Given the description of an element on the screen output the (x, y) to click on. 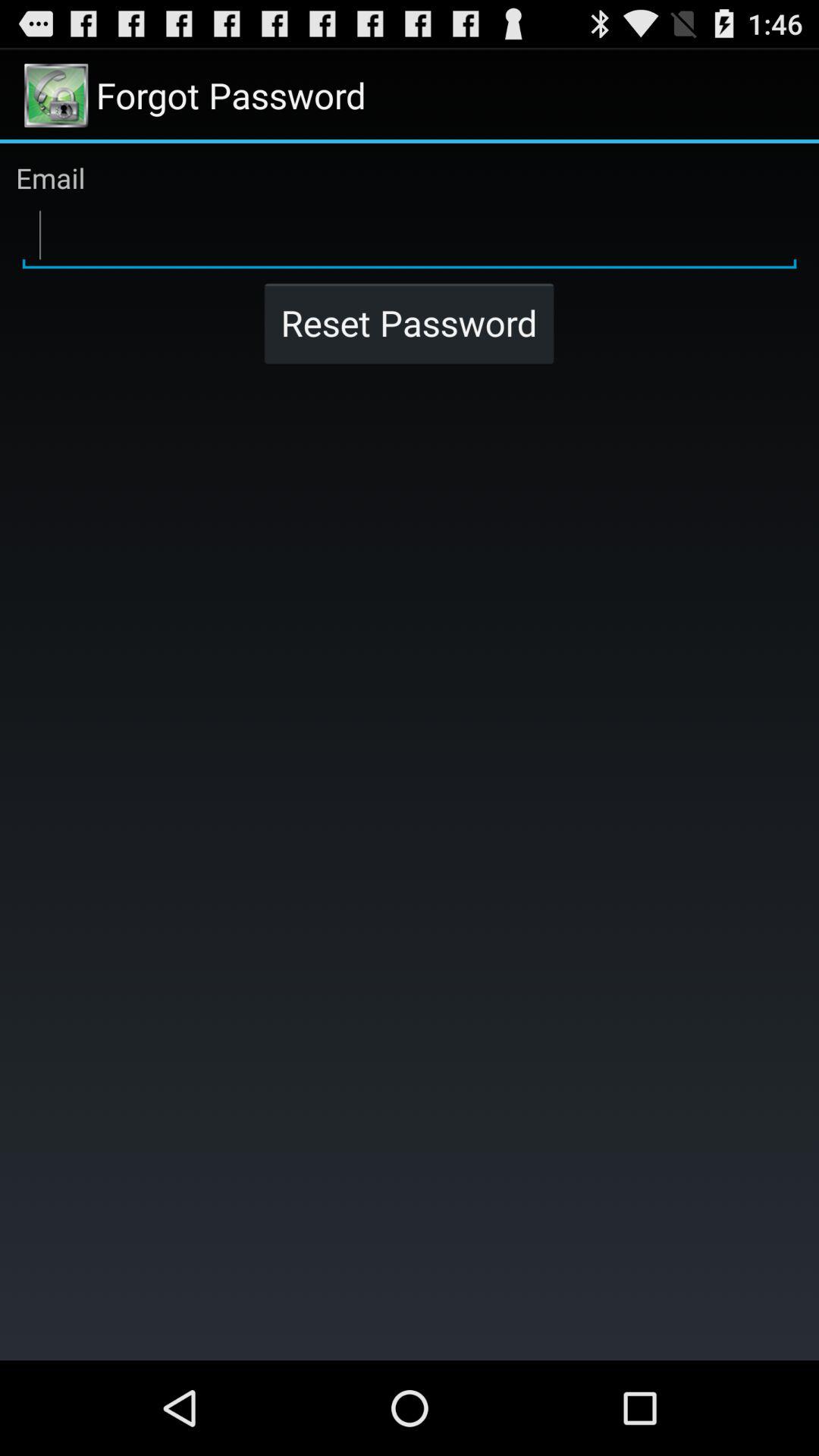
email box (409, 235)
